Given the description of an element on the screen output the (x, y) to click on. 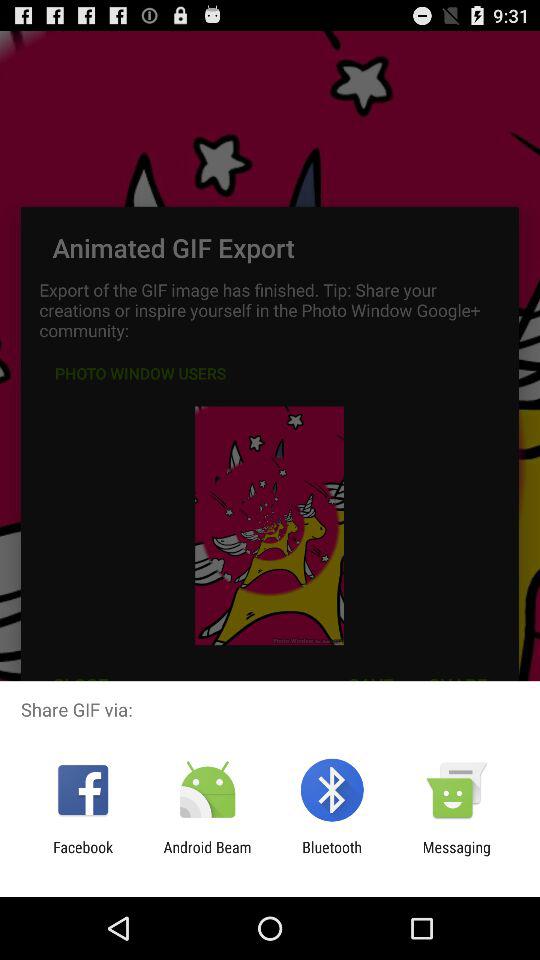
turn off the icon to the left of messaging (331, 856)
